Given the description of an element on the screen output the (x, y) to click on. 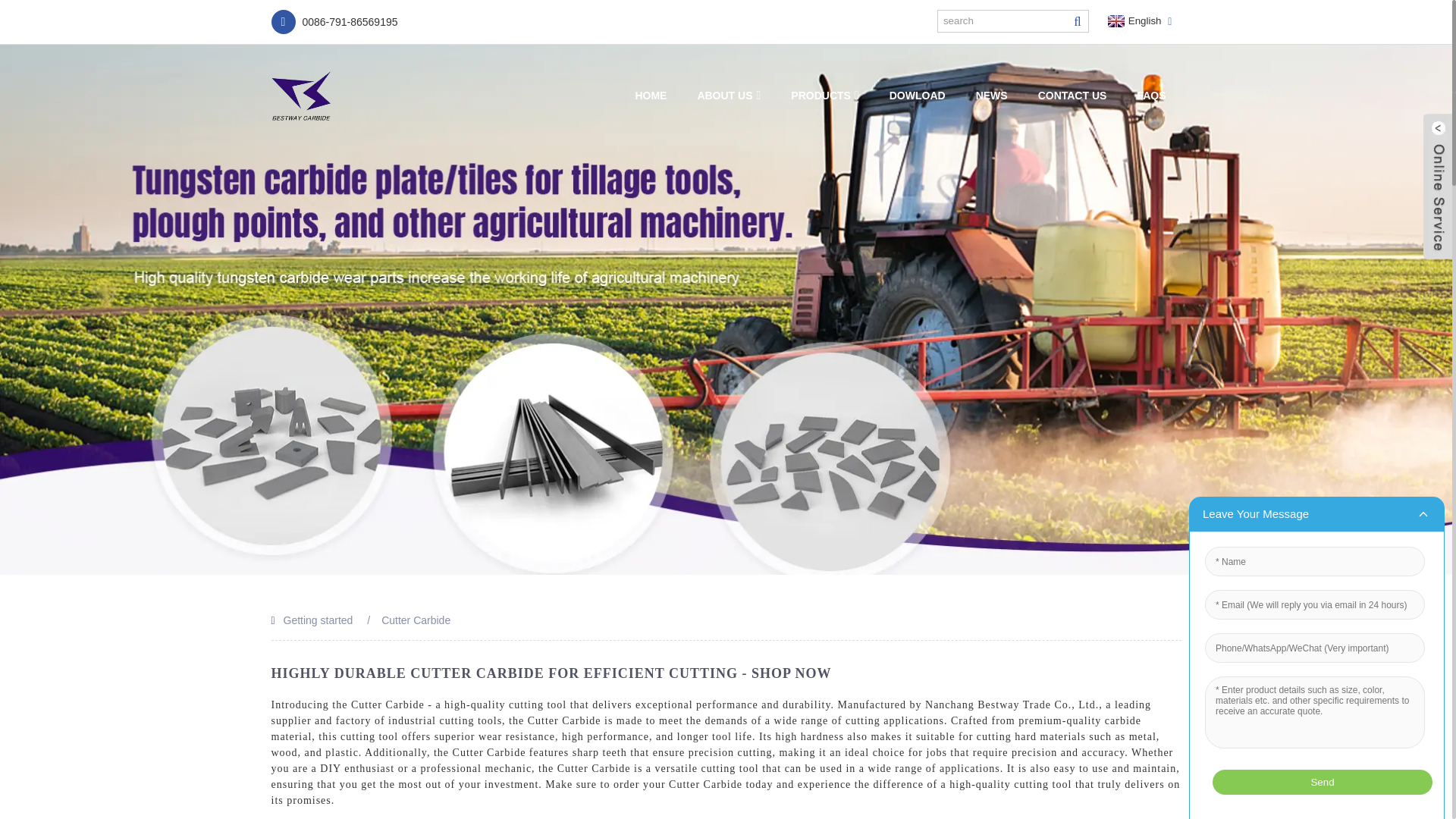
HOME (650, 95)
CONTACT US (1072, 95)
PRODUCTS (824, 95)
English (1132, 21)
FAQS (1150, 95)
Cutter Carbide (415, 620)
NEWS (991, 95)
Getting started (318, 620)
ABOUT US (728, 95)
DOWLOAD (917, 95)
